Given the description of an element on the screen output the (x, y) to click on. 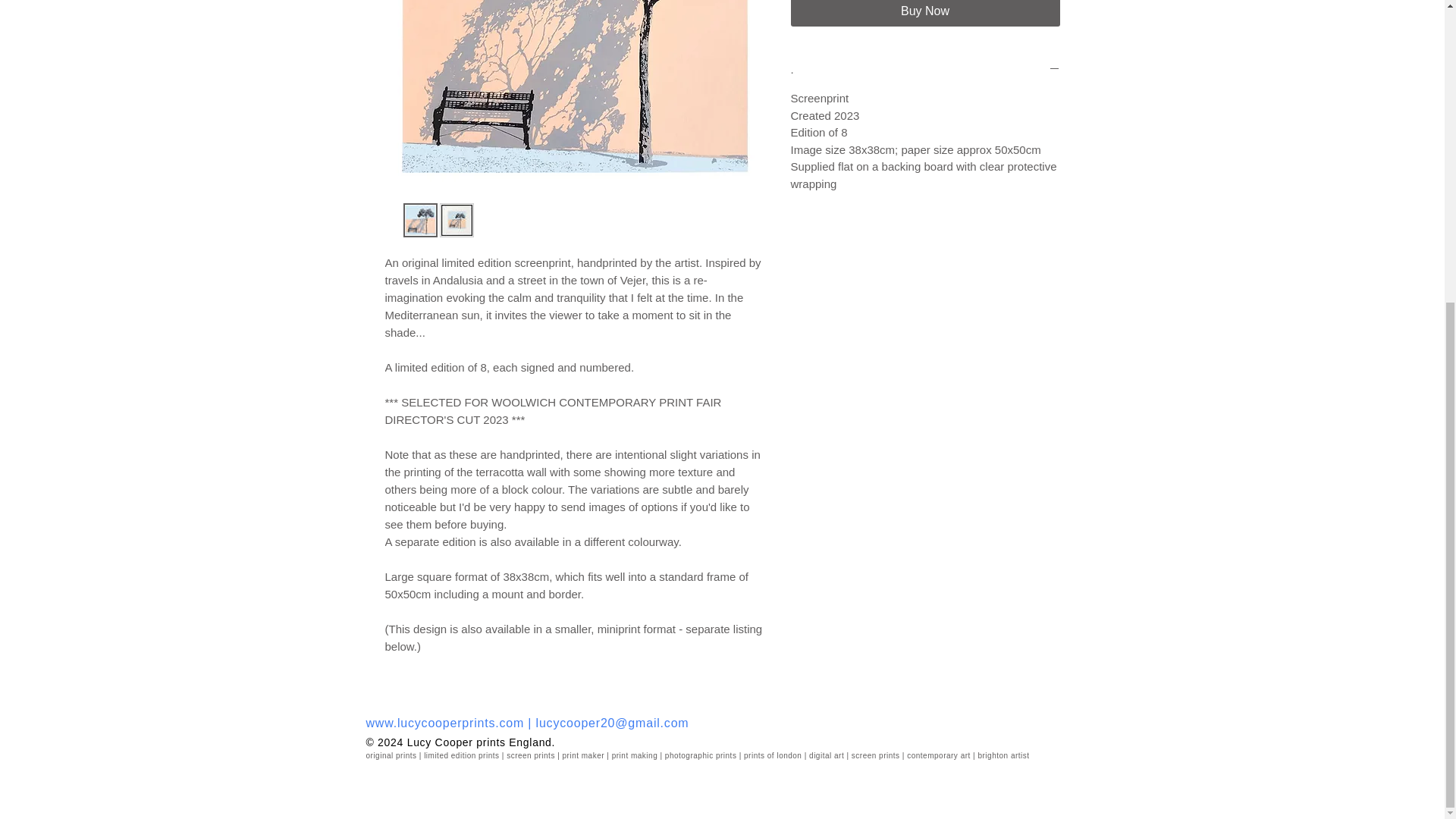
. (924, 69)
Buy Now (924, 13)
